Given the description of an element on the screen output the (x, y) to click on. 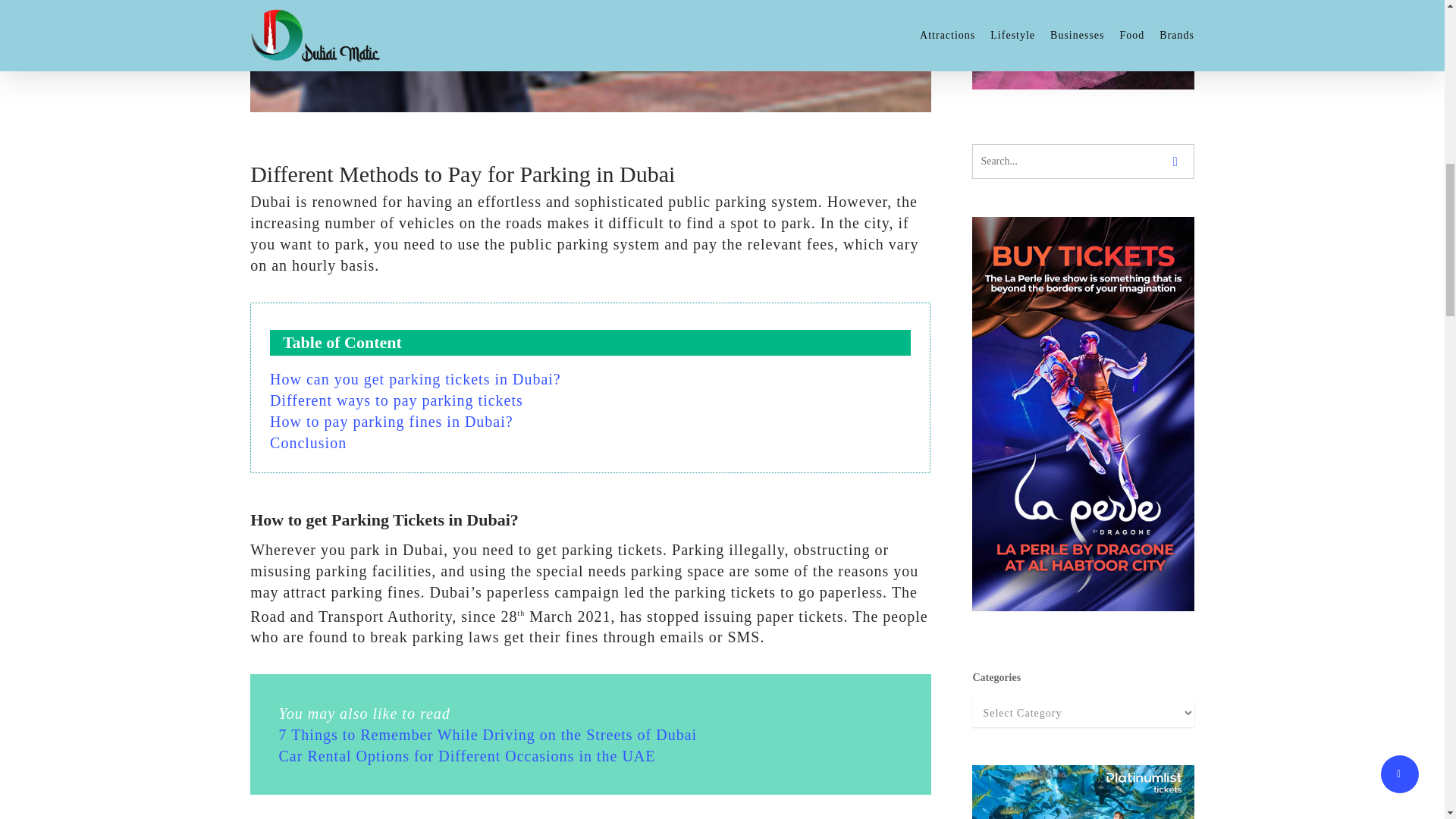
How can you get parking tickets in Dubai? (414, 379)
7 Things to Remember While Driving on the Streets of Dubai (488, 734)
Different ways to pay parking tickets (395, 400)
Conclusion (307, 442)
Search for: (1082, 161)
Car Rental Options for Different Occasions in the UAE (467, 755)
How to pay parking fines in Dubai? (391, 421)
